Given the description of an element on the screen output the (x, y) to click on. 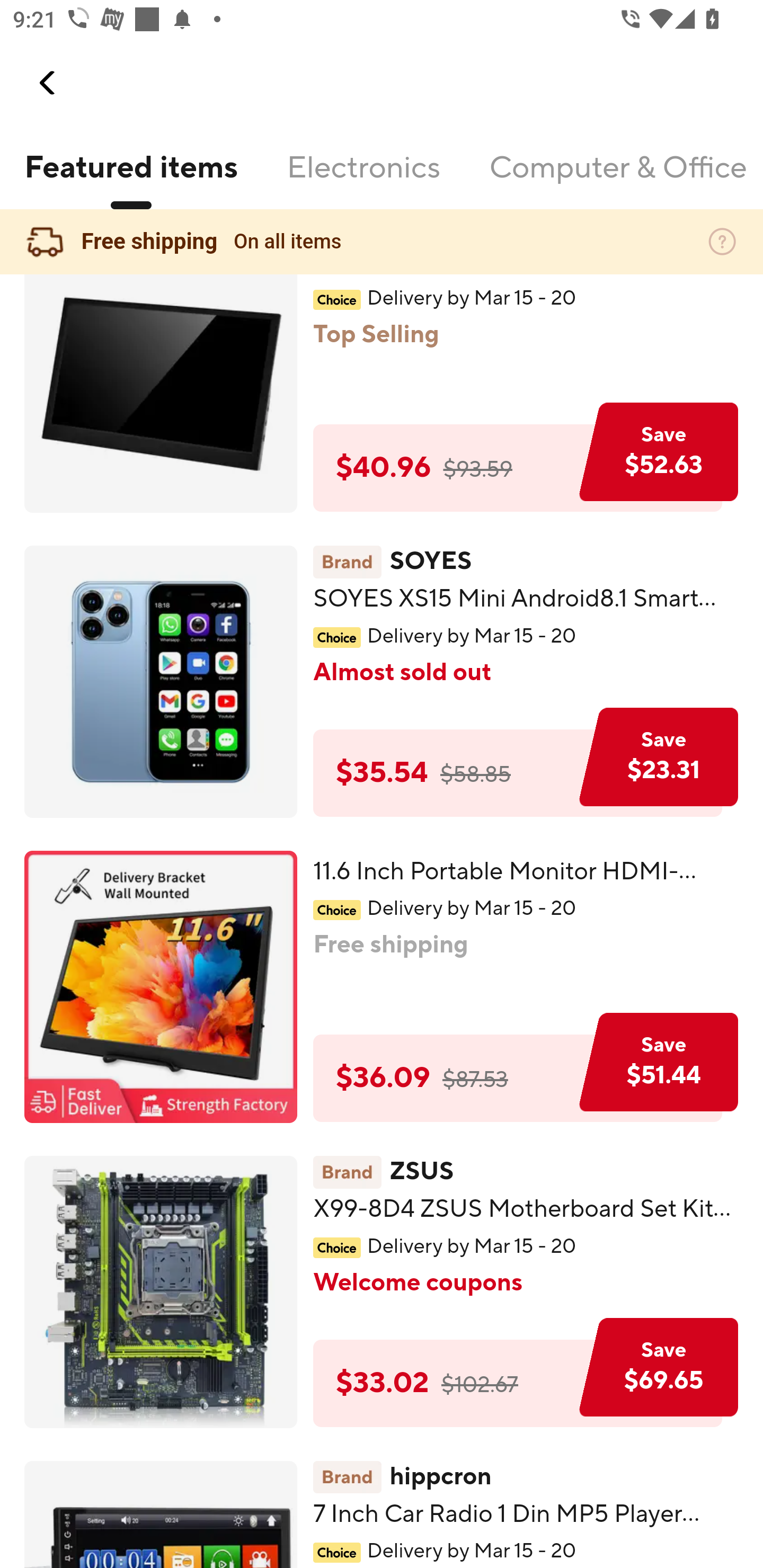
 (48, 82)
Featured items (130, 178)
Electronics (363, 178)
Computer & Office (617, 178)
